Given the description of an element on the screen output the (x, y) to click on. 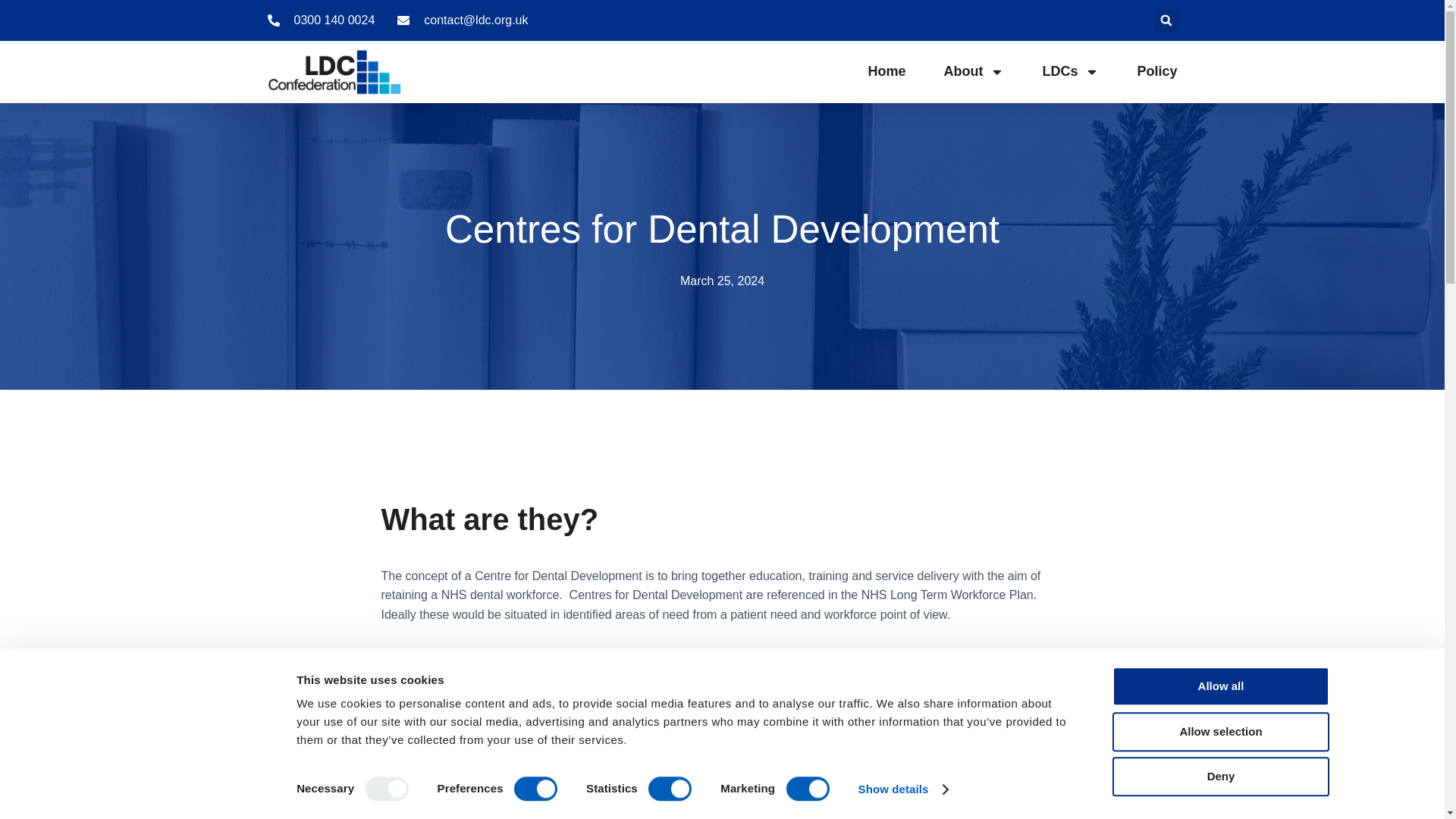
LDCs (1070, 72)
Deny (1219, 776)
0300 140 0024 (320, 20)
Home (886, 72)
Show details (902, 789)
Allow selection (1219, 731)
About (973, 72)
Allow all (1219, 685)
